Given the description of an element on the screen output the (x, y) to click on. 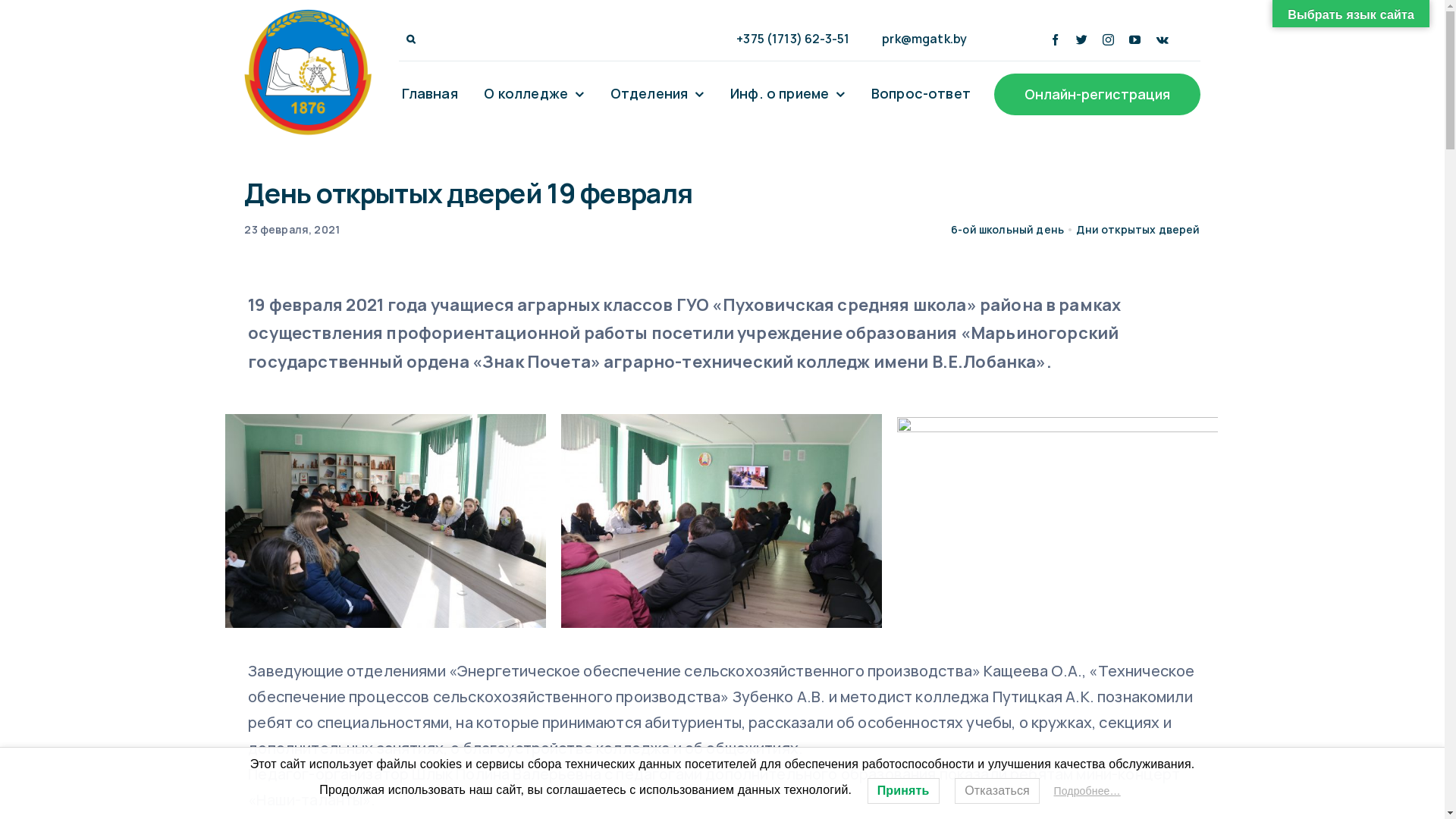
+375 (1713) 62-3-51 Element type: text (785, 38)
IMG_1682 Element type: hover (721, 520)
IMG_1685 Element type: hover (1057, 520)
IMG_1680 Element type: hover (385, 520)
prk@mgatk.by Element type: text (917, 38)
